Given the description of an element on the screen output the (x, y) to click on. 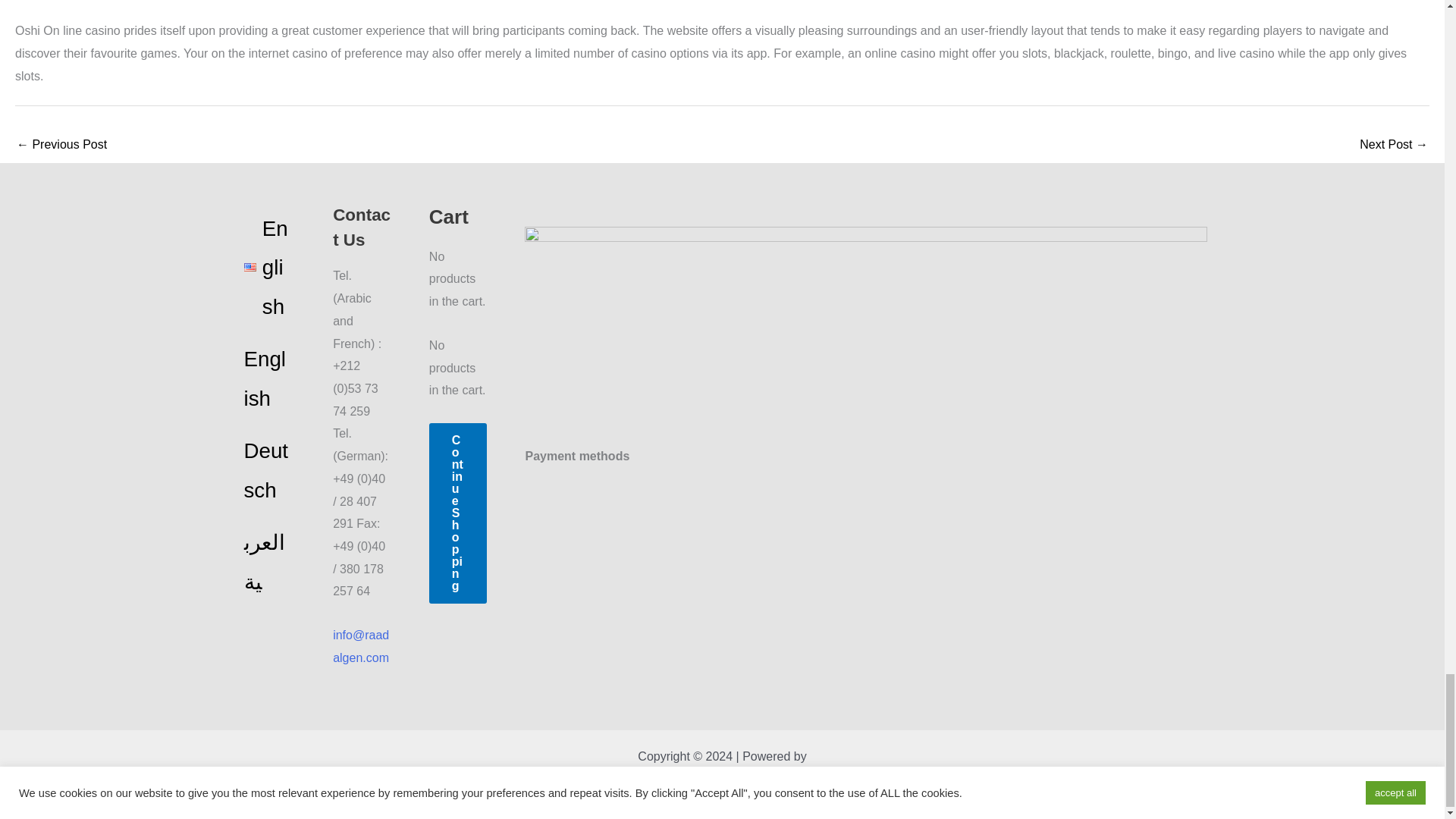
Licensed Online Casino Sportart And Esport Betting! (61, 145)
